Given the description of an element on the screen output the (x, y) to click on. 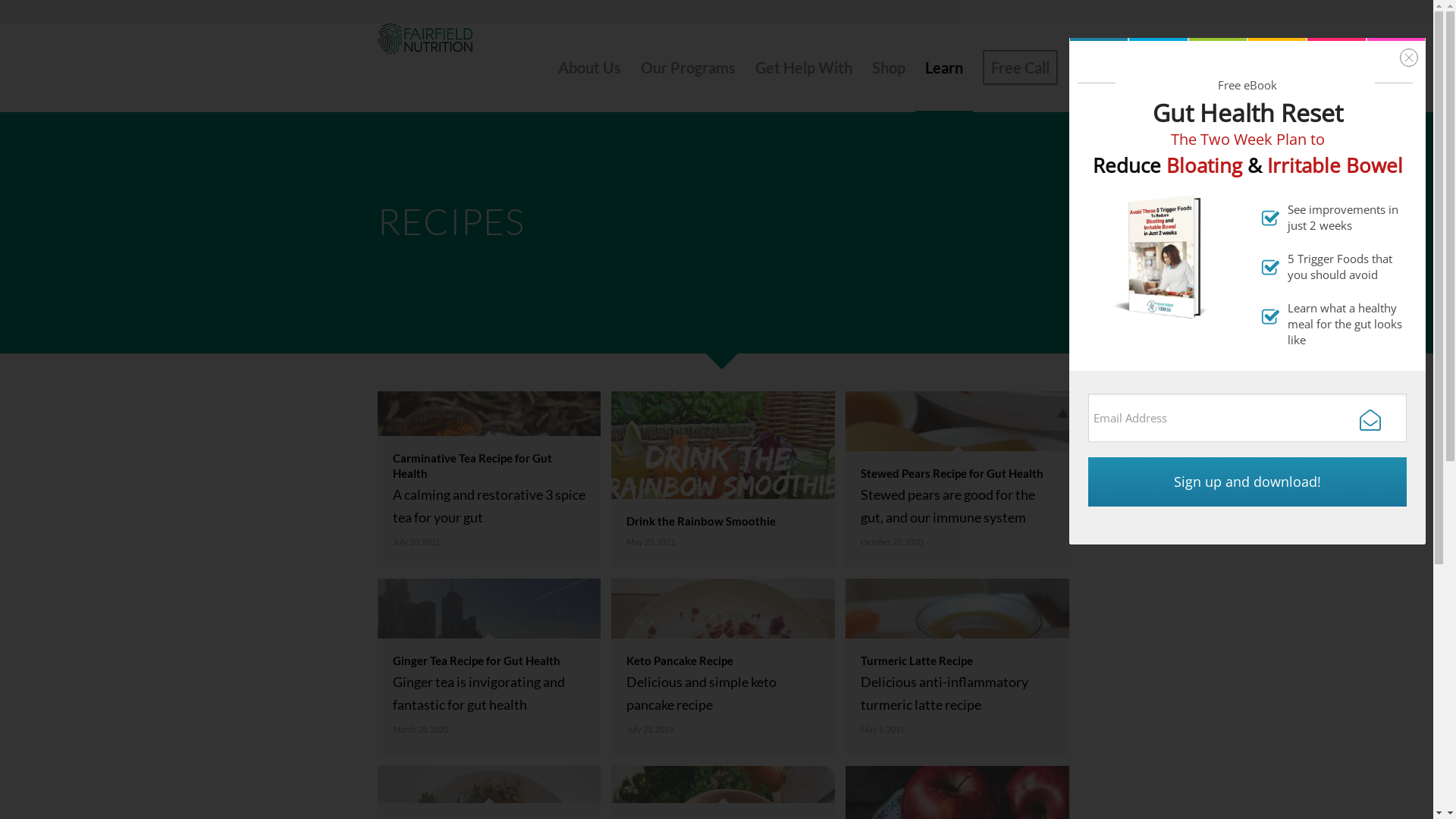
Get Help With Element type: text (802, 67)
Shop Element type: text (887, 67)
About Us Element type: text (588, 67)
Our Programs Element type: text (687, 67)
Free Call Element type: text (1019, 67)
poached-pears-piece-vert-IMG_0890-w Element type: hover (956, 479)
20190505_113048 Element type: hover (956, 666)
Learn Element type: text (943, 67)
Sign up and download! Element type: text (1247, 481)
Drink the Rainbow Smoothie
May 20, 2021 Element type: text (728, 484)
avoid these foods book cover Element type: hover (1162, 256)
Fenugreek-Tea-Benefits-Side-Effects-And-How-To-Make-It Element type: hover (488, 479)
Keto Pancakes Element type: hover (722, 666)
Ginger Tea Element type: hover (488, 666)
drink the rainbow smoothie Element type: hover (722, 479)
